Given the description of an element on the screen output the (x, y) to click on. 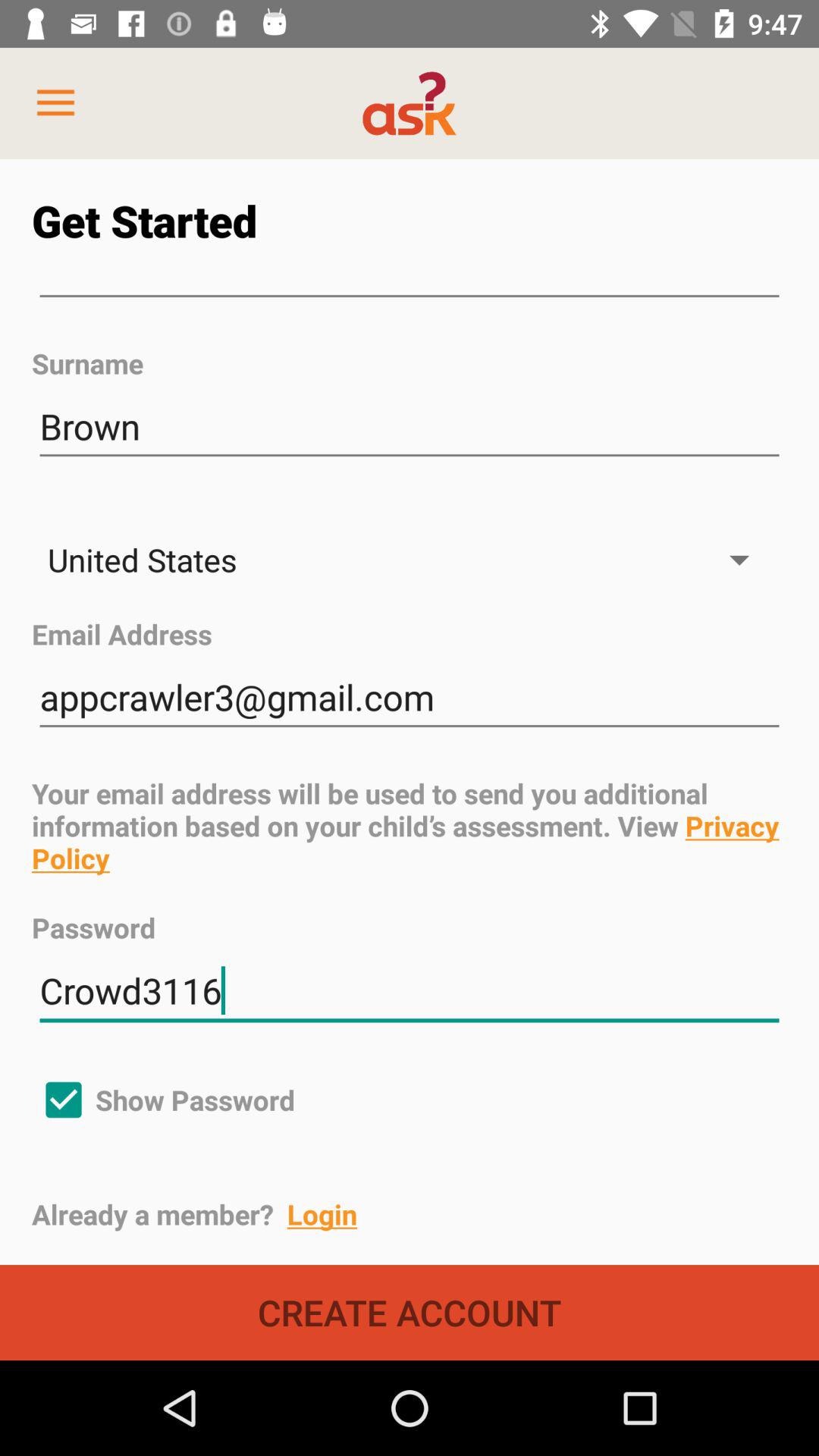
turn off item above get started icon (55, 103)
